Given the description of an element on the screen output the (x, y) to click on. 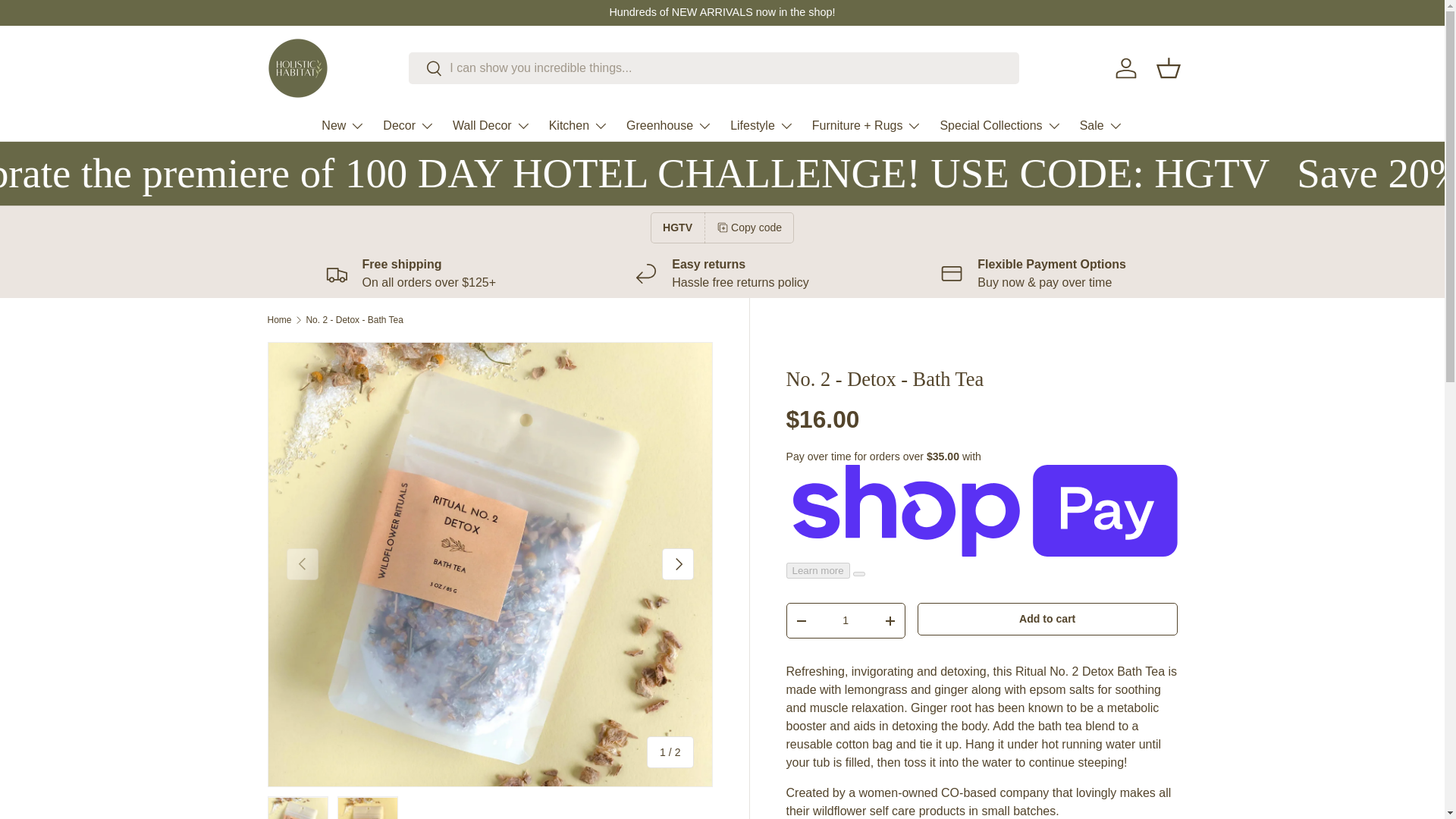
Search (425, 68)
Decor (407, 125)
1 (845, 620)
New (343, 125)
Log in (1124, 68)
Basket (1168, 68)
Skip to content (68, 21)
